Given the description of an element on the screen output the (x, y) to click on. 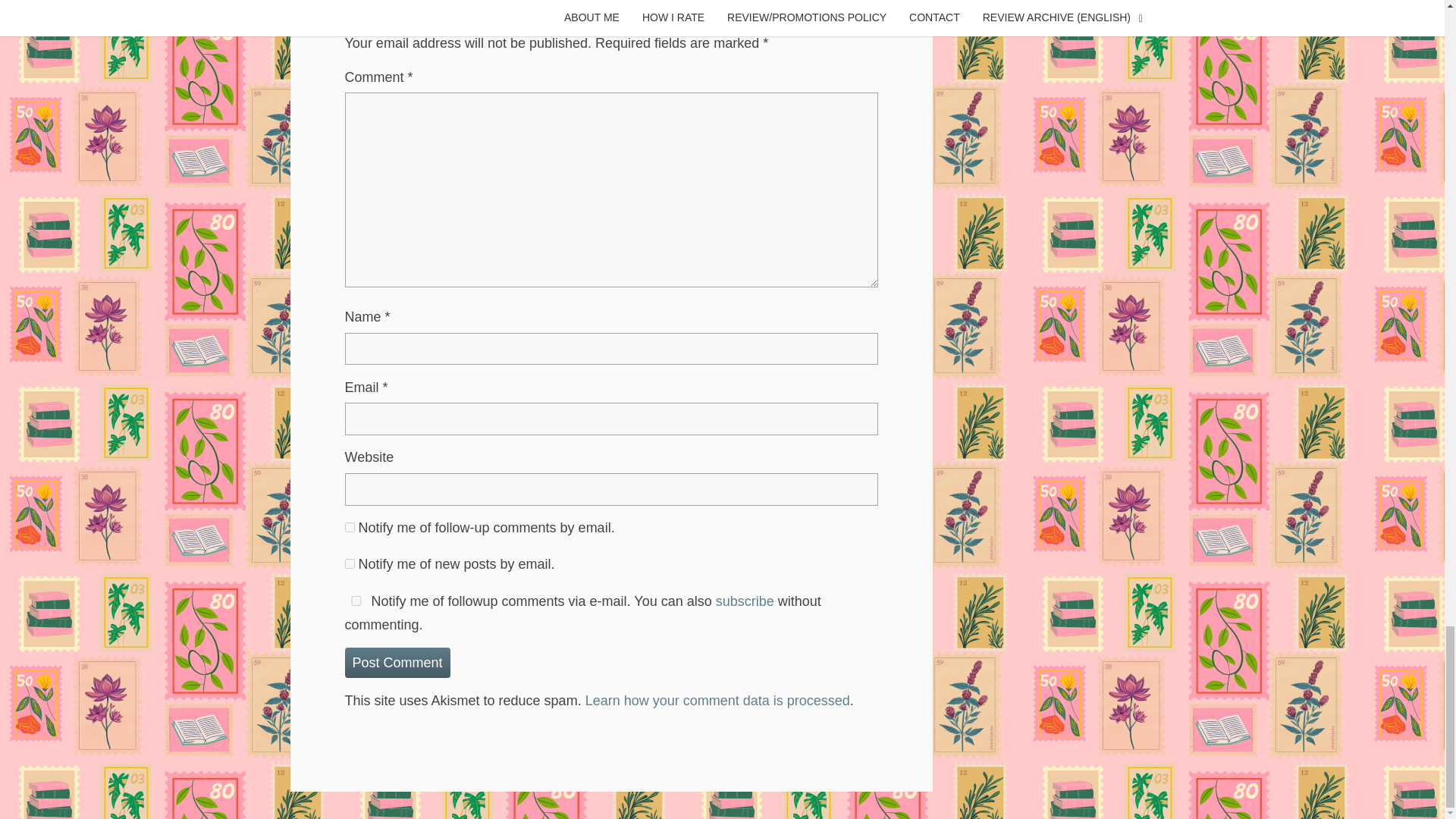
subscribe (348, 527)
subscribe (348, 563)
Post Comment (396, 662)
yes (354, 601)
